Given the description of an element on the screen output the (x, y) to click on. 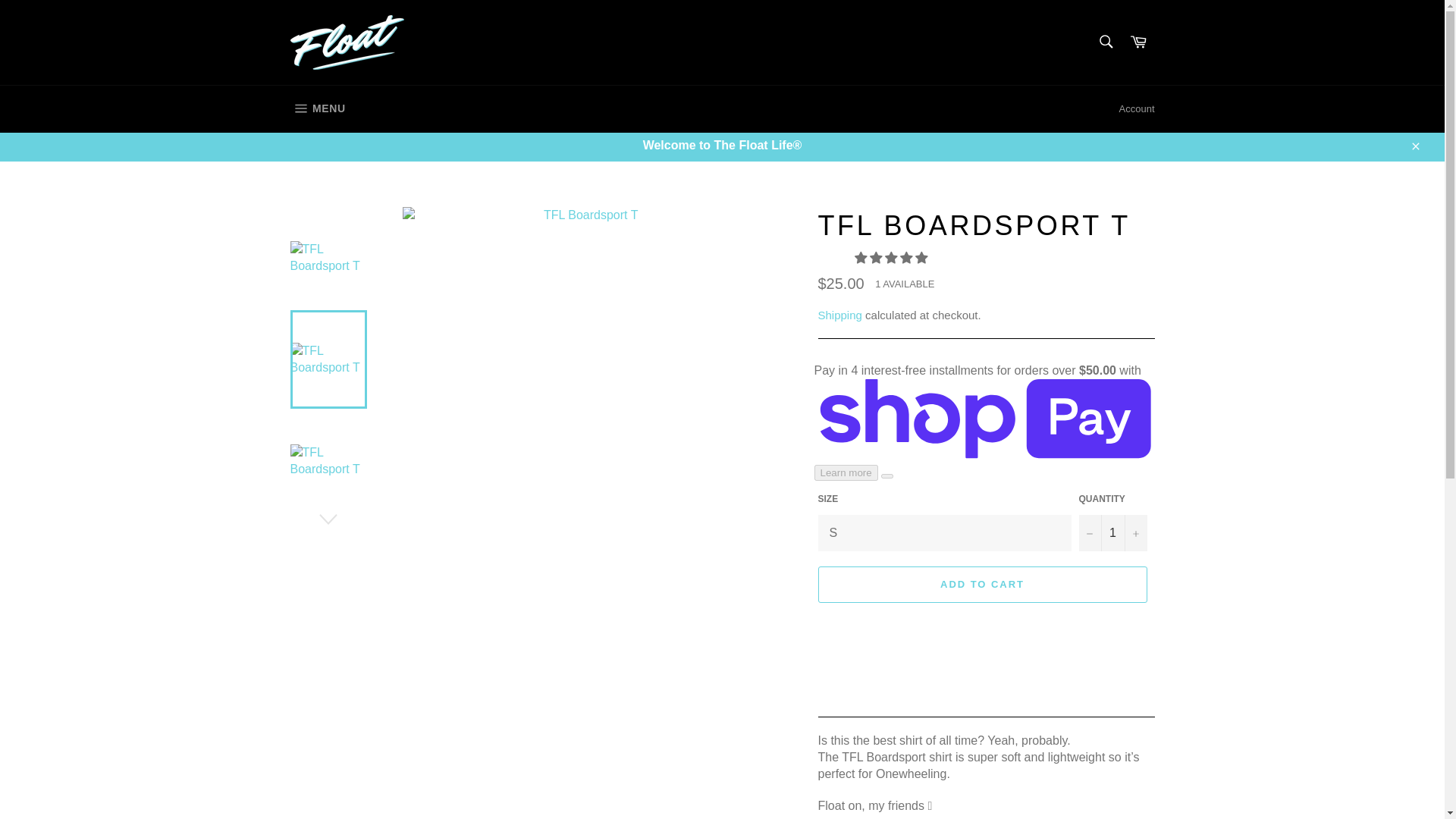
Cart (1138, 42)
Search (1104, 41)
Account (317, 108)
1 (1136, 108)
